Given the description of an element on the screen output the (x, y) to click on. 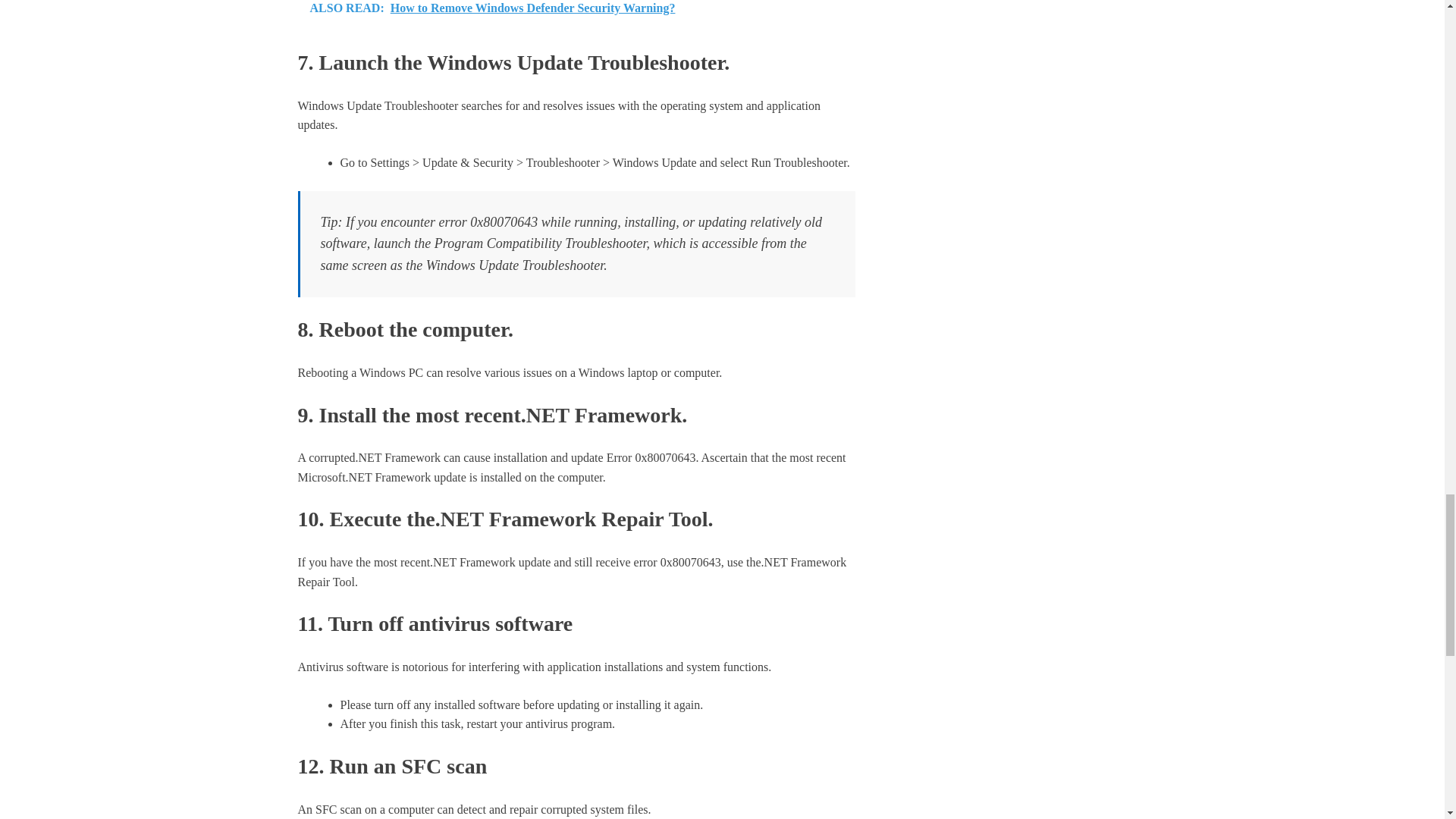
ALSO READ:  How to Remove Windows Defender Security Warning? (575, 15)
